Given the description of an element on the screen output the (x, y) to click on. 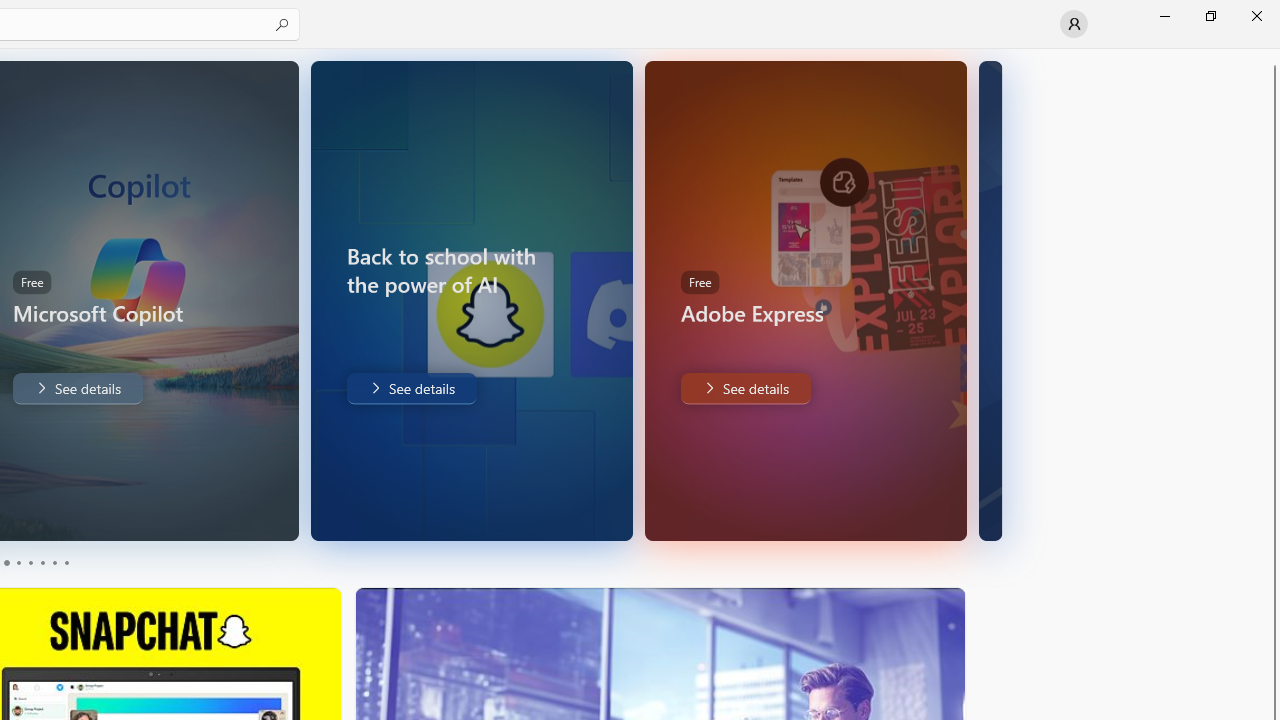
Page 1 (5, 562)
Close Microsoft Store (1256, 15)
Vertical Small Decrease (1272, 55)
Minimize Microsoft Store (1164, 15)
AutomationID: Image (998, 300)
Page 4 (41, 562)
Page 3 (29, 562)
User profile (1073, 24)
Page 5 (54, 562)
Page 2 (17, 562)
Page 6 (65, 562)
Pager (35, 562)
